Given the description of an element on the screen output the (x, y) to click on. 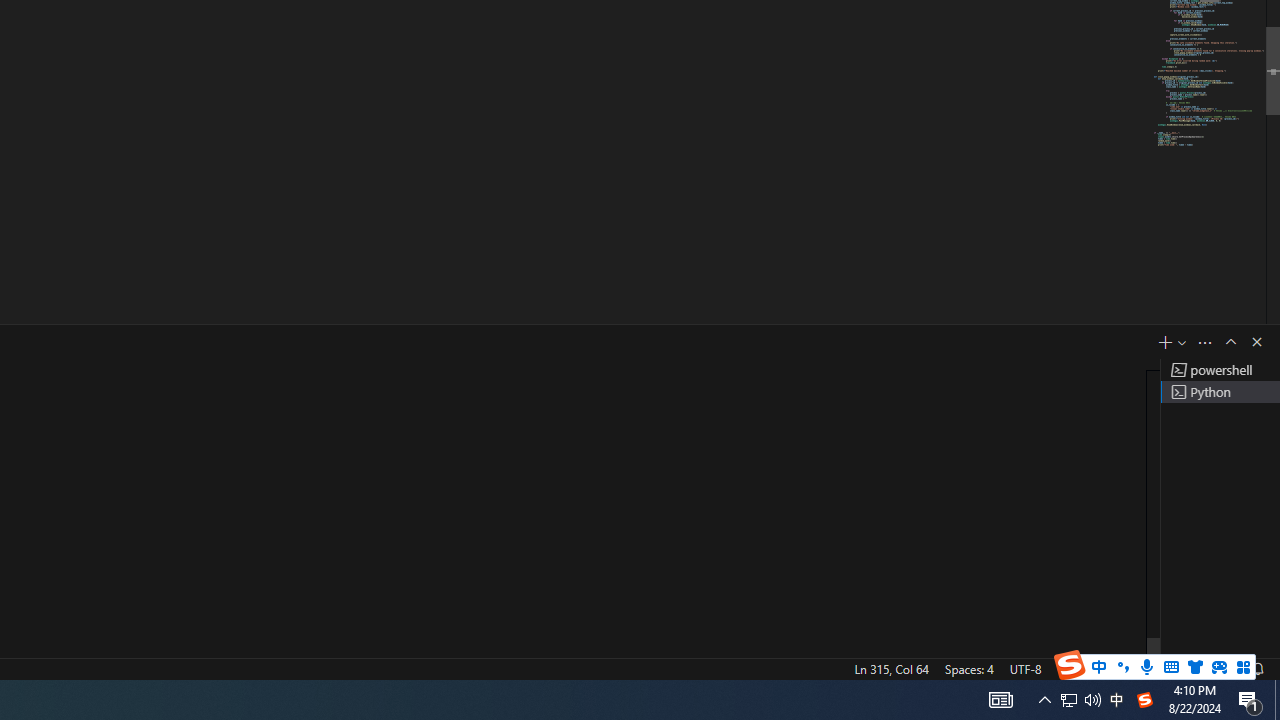
Ln 315, Col 64 (891, 668)
Terminal 2 Python (1220, 391)
Spaces: 4 (968, 668)
Terminal 1 powershell (1220, 369)
Python (1135, 668)
Maximize Panel Size (1230, 341)
CRLF (1070, 668)
Launch Profile... (1181, 342)
Hide Panel (1256, 341)
Notifications (1257, 668)
UTF-8 (1025, 668)
Views and More Actions... (1205, 342)
